Given the description of an element on the screen output the (x, y) to click on. 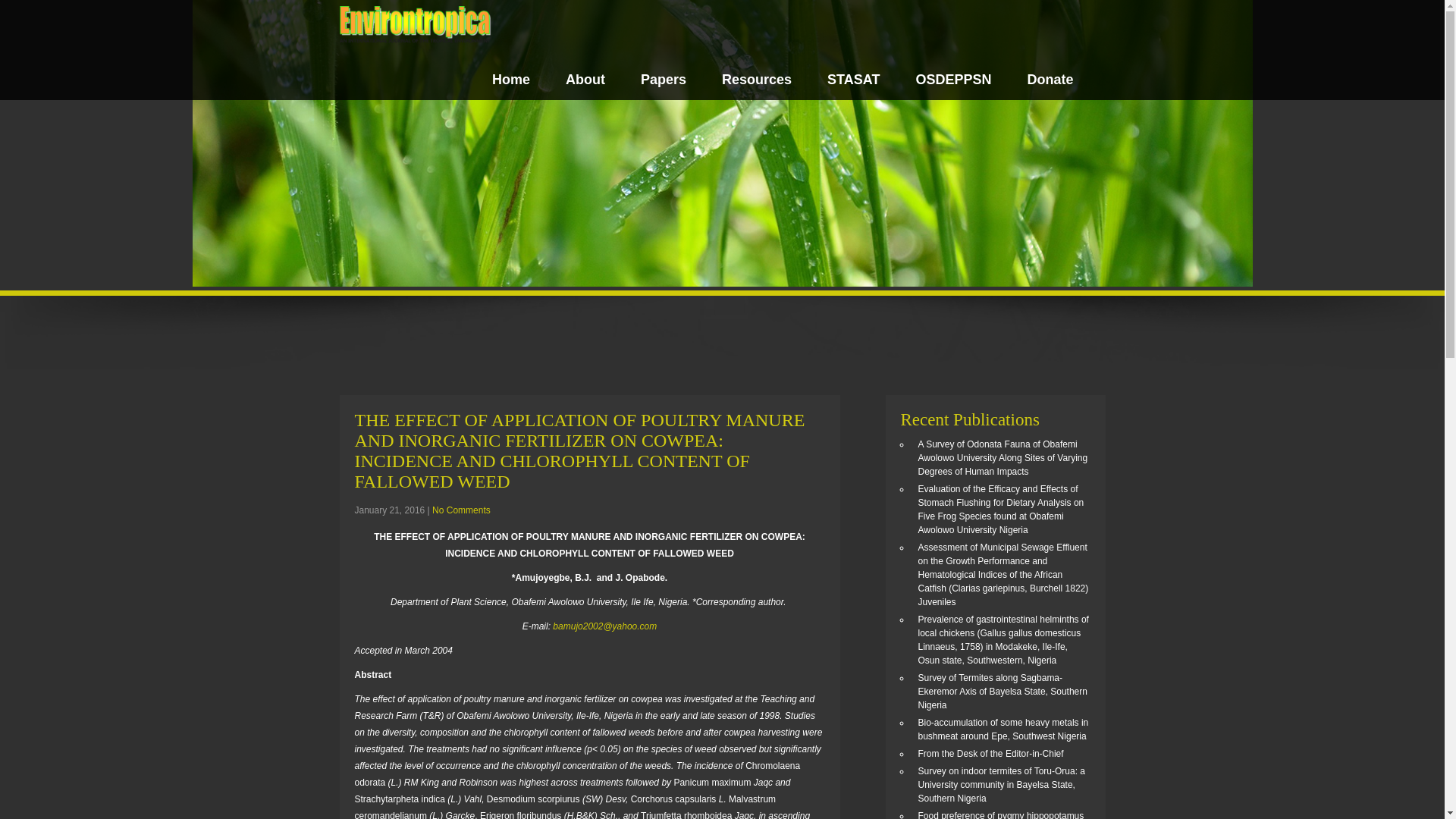
Home (510, 83)
Resources (757, 83)
OSDEPPSN (953, 83)
STASAT (853, 83)
About (585, 83)
No Comments (461, 510)
Donate (1049, 83)
Papers (662, 83)
